Given the description of an element on the screen output the (x, y) to click on. 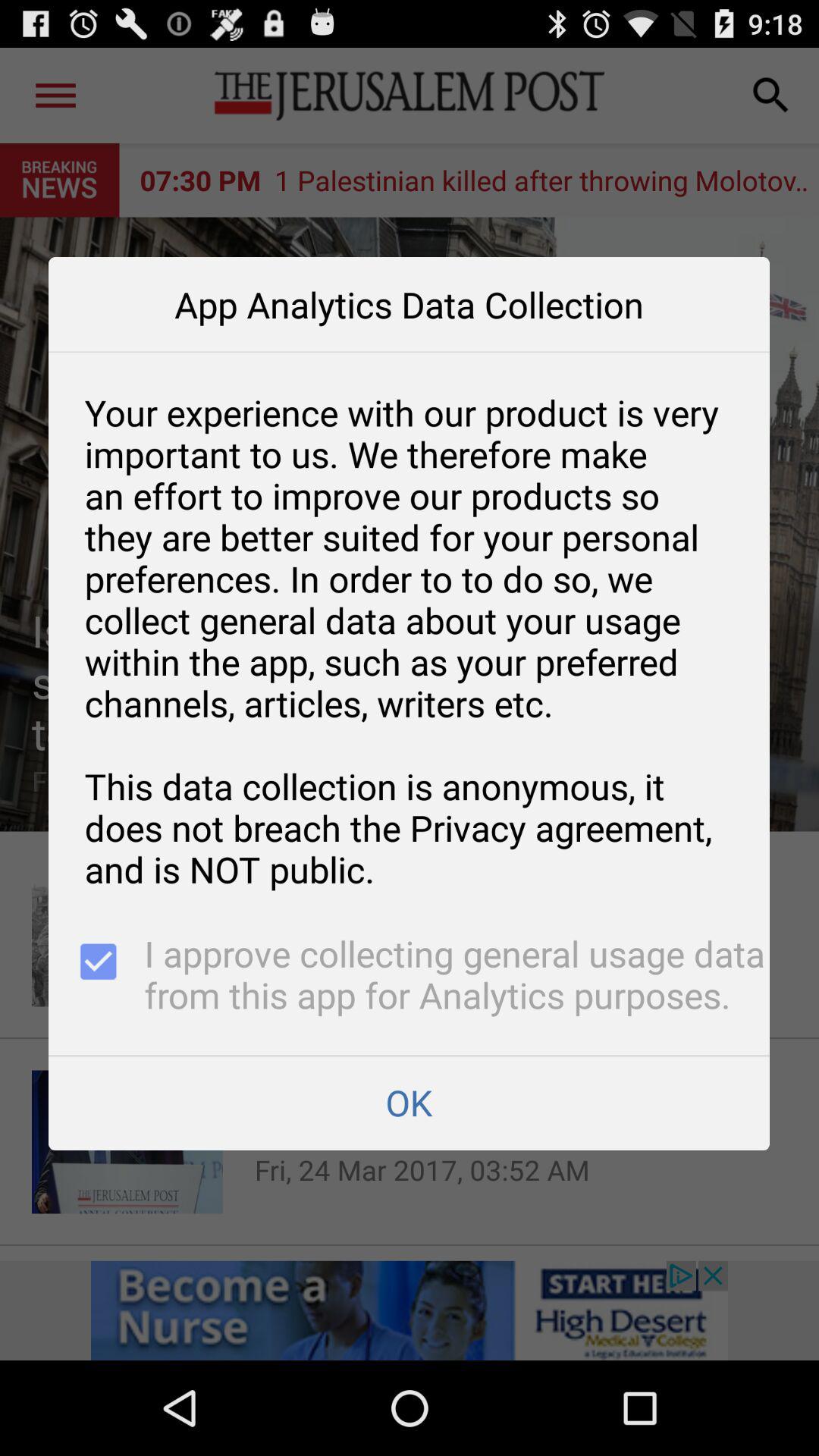
launch the item above ok (96, 976)
